Given the description of an element on the screen output the (x, y) to click on. 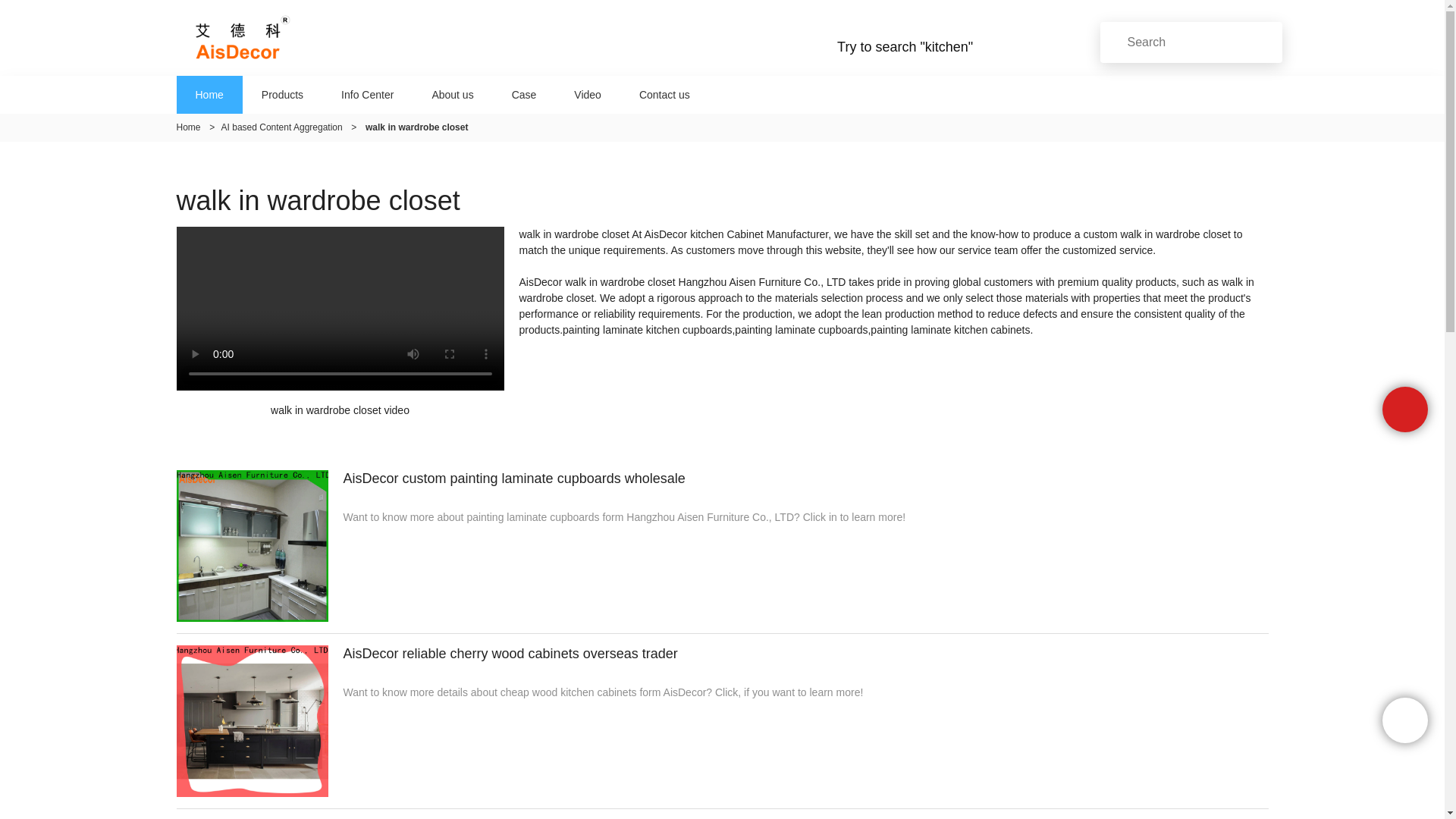
AI based Content Aggregation (281, 127)
Case (524, 94)
Contact us (664, 94)
About us (451, 94)
Video (587, 94)
Home (209, 94)
Info Center (366, 94)
Home (188, 127)
